Given the description of an element on the screen output the (x, y) to click on. 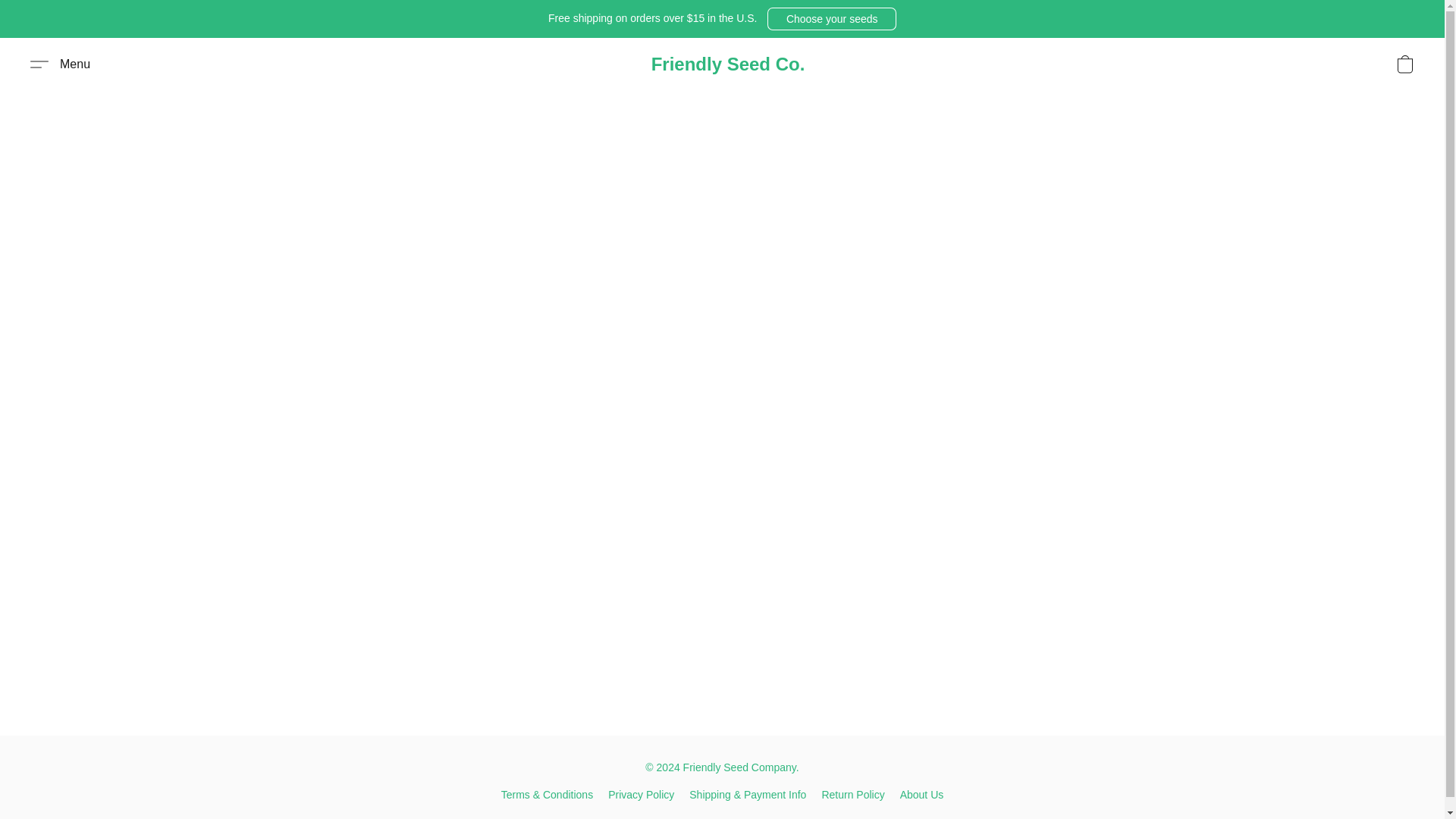
Go to your shopping cart (1404, 64)
Return Policy (852, 794)
Privacy Policy (641, 794)
Friendly Seed Co. (727, 64)
About Us (921, 794)
Menu (59, 63)
Choose your seeds (831, 18)
